Given the description of an element on the screen output the (x, y) to click on. 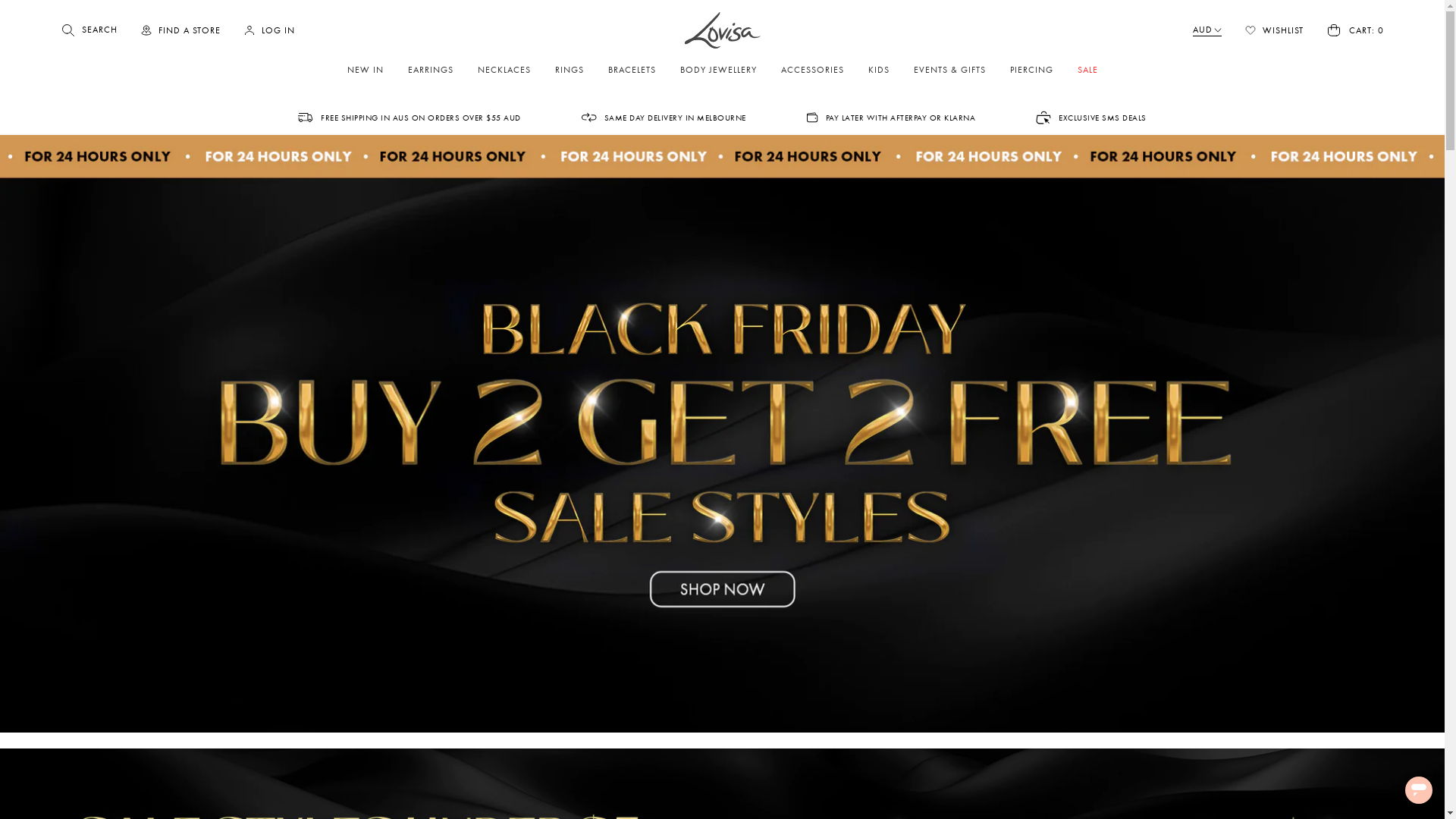
BRACELETS Element type: text (632, 69)
CART: 0 Element type: text (1354, 30)
KIDS Element type: text (877, 69)
SAME DAY DELIVERY IN MELBOURNE Element type: text (663, 117)
NEW IN Element type: text (365, 69)
SEARCH Element type: text (88, 29)
SALE Element type: text (1086, 69)
LOG IN Element type: text (268, 30)
EXCLUSIVE SMS DEALS Element type: text (1090, 117)
FREE SHIPPING IN AUS ON ORDERS OVER $55 AUD Element type: text (409, 117)
ACCESSORIES Element type: text (812, 69)
FIND A STORE Element type: text (180, 30)
EVENTS & GIFTS Element type: text (948, 69)
RINGS Element type: text (569, 69)
PAY LATER WITH AFTERPAY OR KLARNA Element type: text (890, 117)
EARRINGS Element type: text (430, 69)
WISHLIST Element type: text (1273, 30)
NECKLACES Element type: text (503, 69)
PIERCING Element type: text (1031, 69)
AUD Element type: text (1206, 30)
BODY JEWELLERY Element type: text (717, 69)
